Given the description of an element on the screen output the (x, y) to click on. 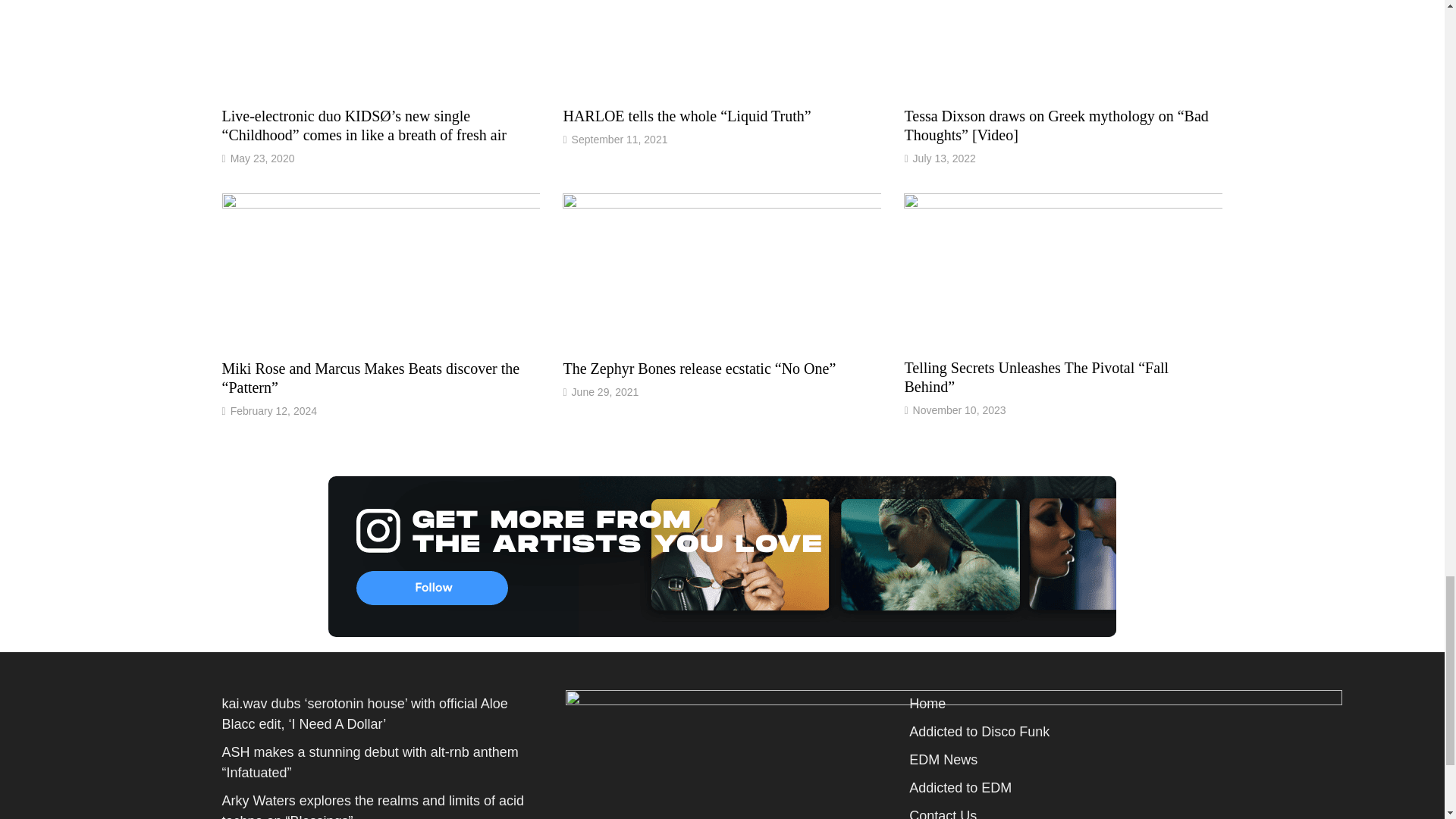
February 12, 2024 (273, 410)
May 23, 2020 (262, 158)
July 13, 2022 (943, 158)
September 11, 2021 (620, 139)
